Given the description of an element on the screen output the (x, y) to click on. 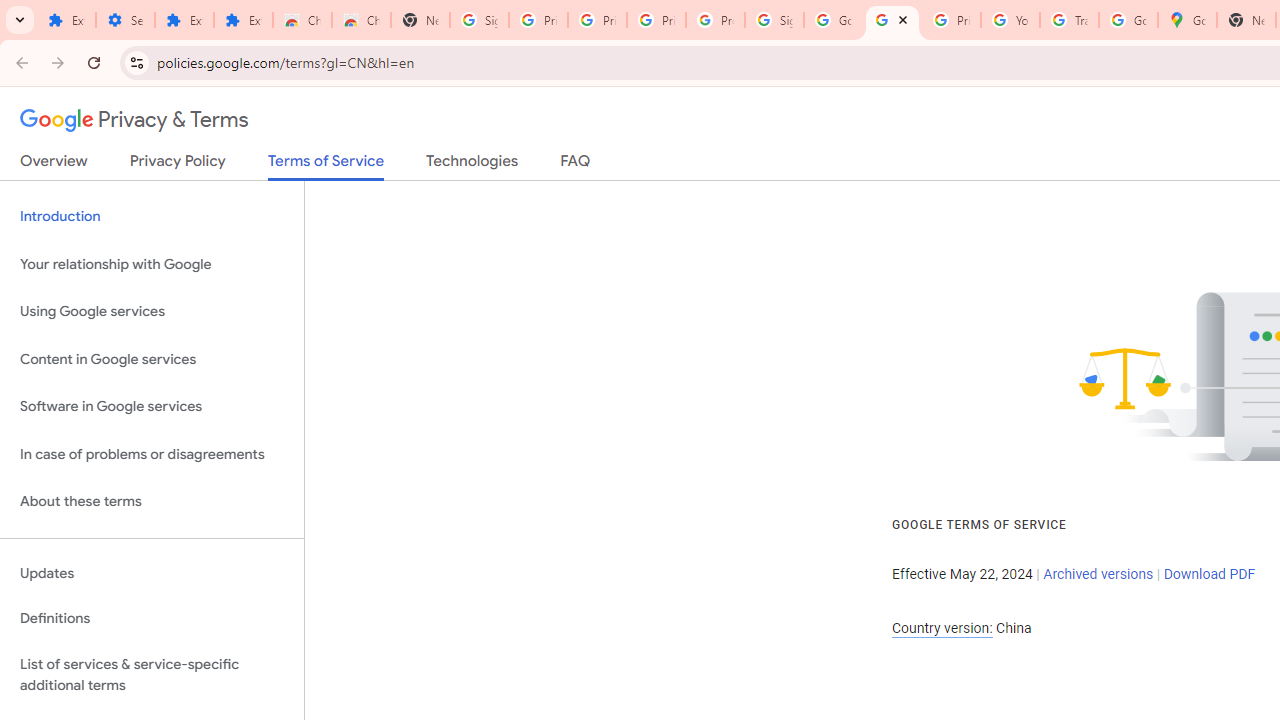
Country version: (942, 628)
Extensions (183, 20)
Extensions (242, 20)
Extensions (66, 20)
Chrome Web Store - Themes (360, 20)
